Given the description of an element on the screen output the (x, y) to click on. 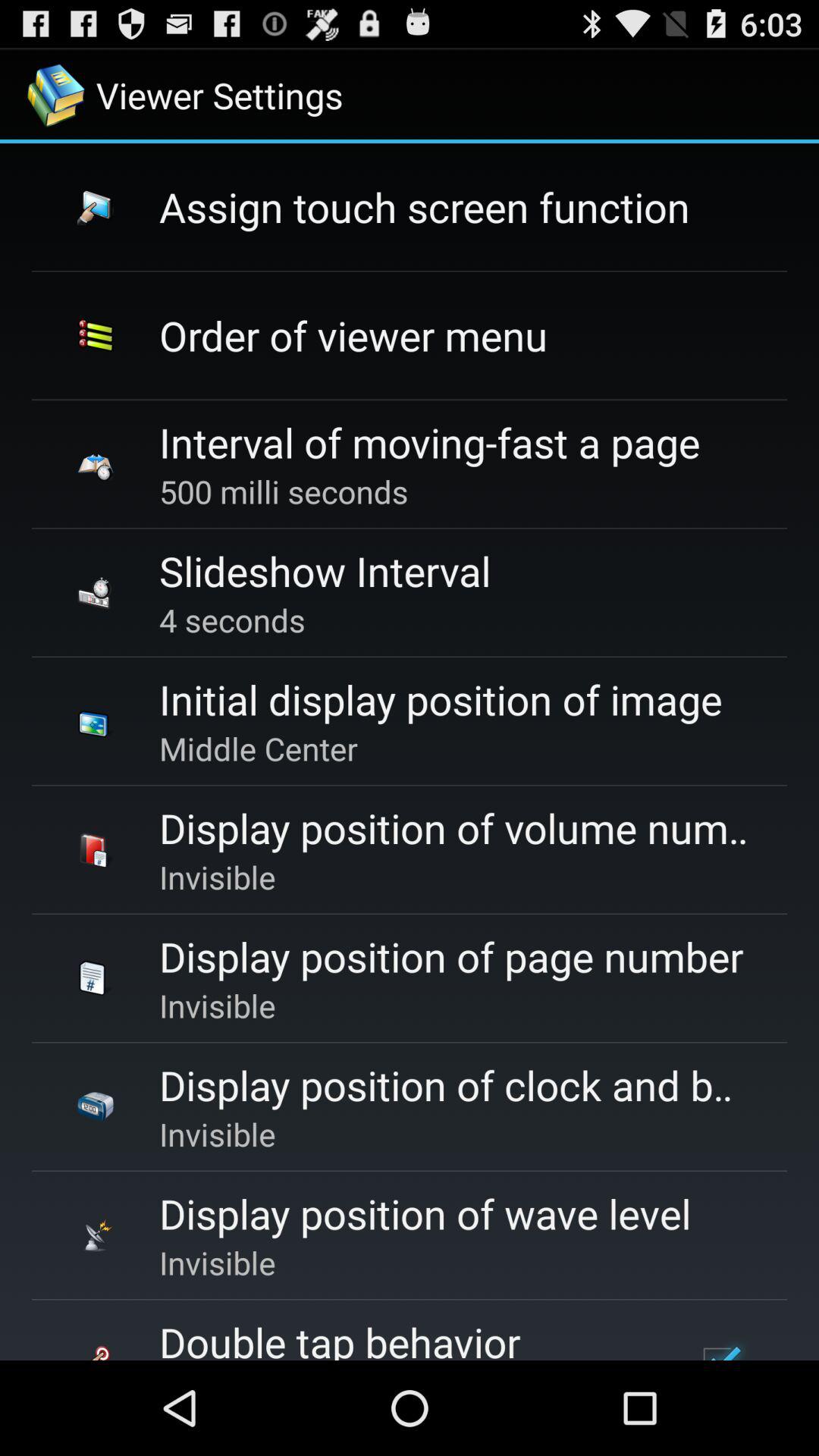
turn on the slideshow interval icon (324, 570)
